Given the description of an element on the screen output the (x, y) to click on. 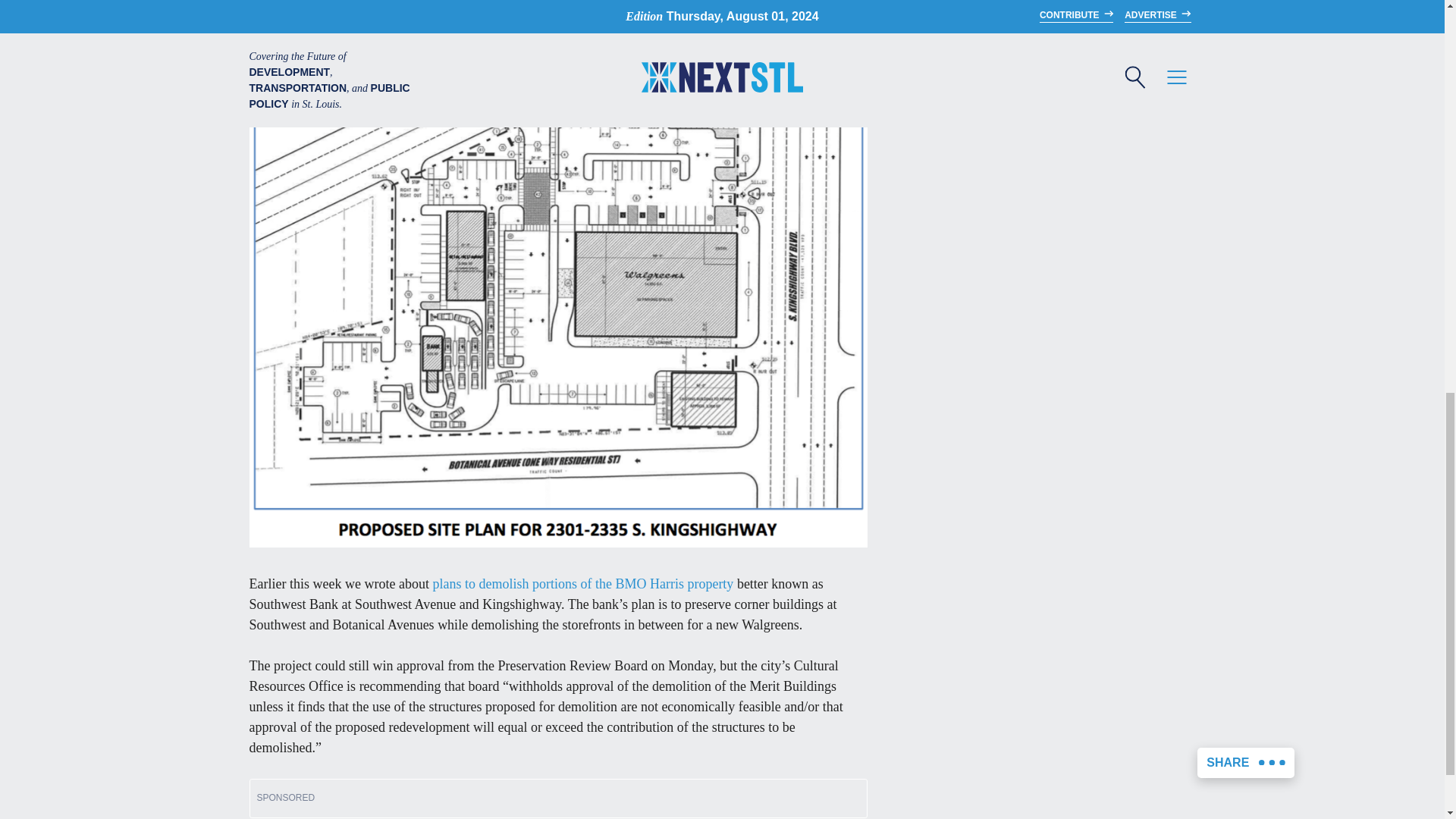
plans to demolish portions of the BMO Harris property (582, 583)
